Given the description of an element on the screen output the (x, y) to click on. 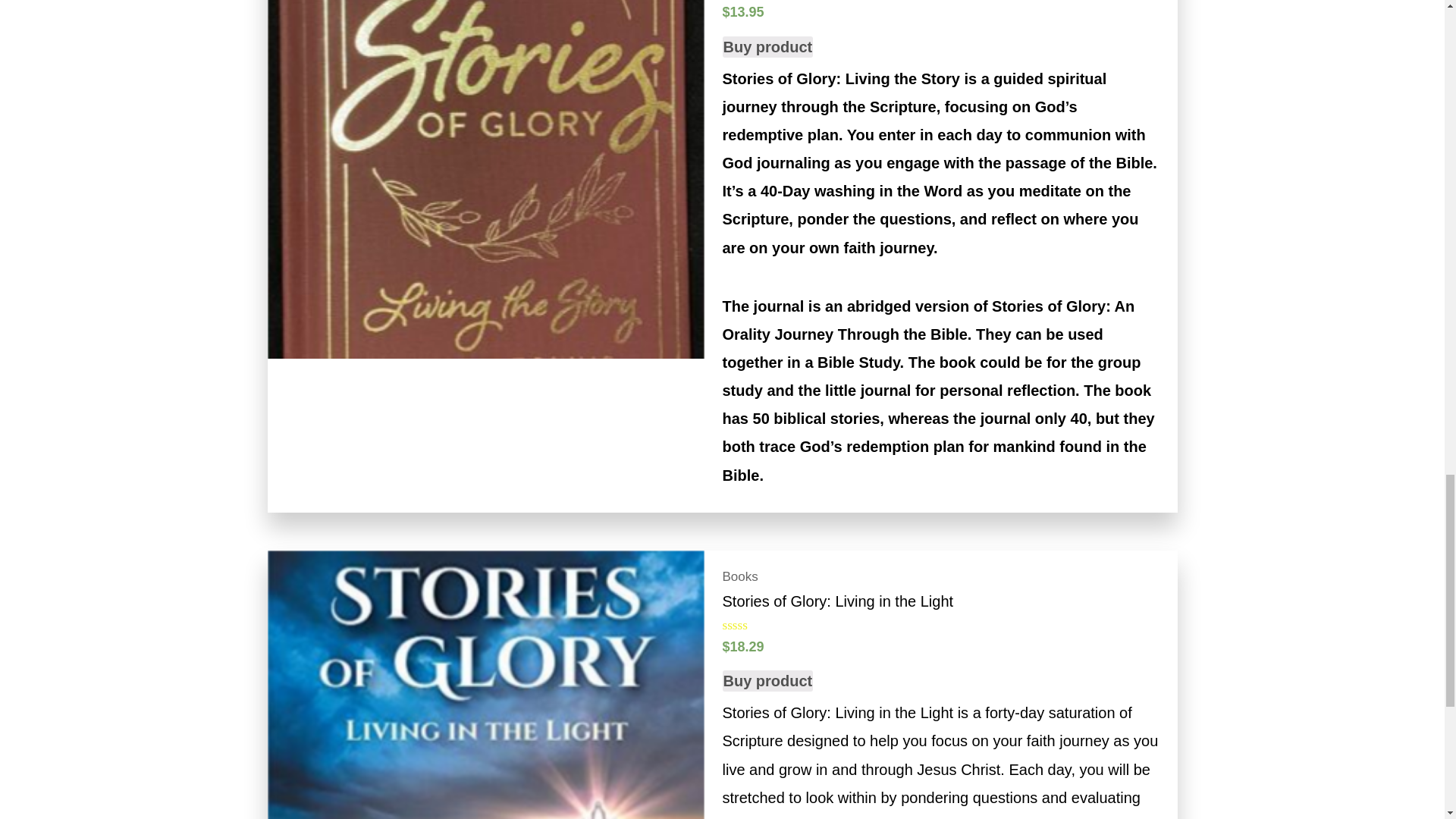
Buy product (767, 680)
Stories of Glory: Living in the Light (940, 600)
Buy product (767, 46)
